Given the description of an element on the screen output the (x, y) to click on. 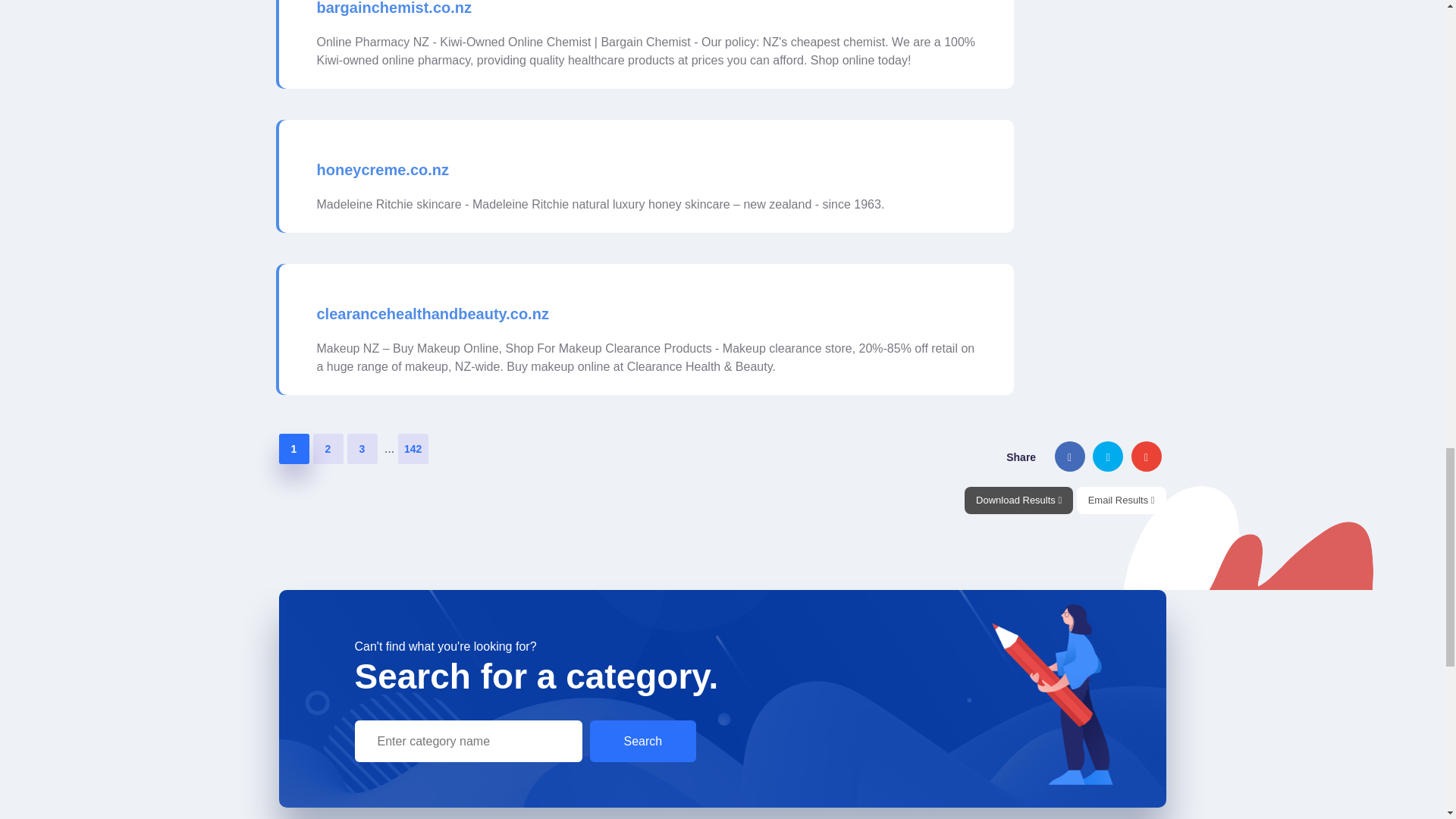
bargainchemist.co.nz (394, 9)
honeycreme.co.nz (383, 169)
3 (362, 449)
clearancehealthandbeauty.co.nz (432, 313)
142 (412, 449)
2 (327, 449)
